Given the description of an element on the screen output the (x, y) to click on. 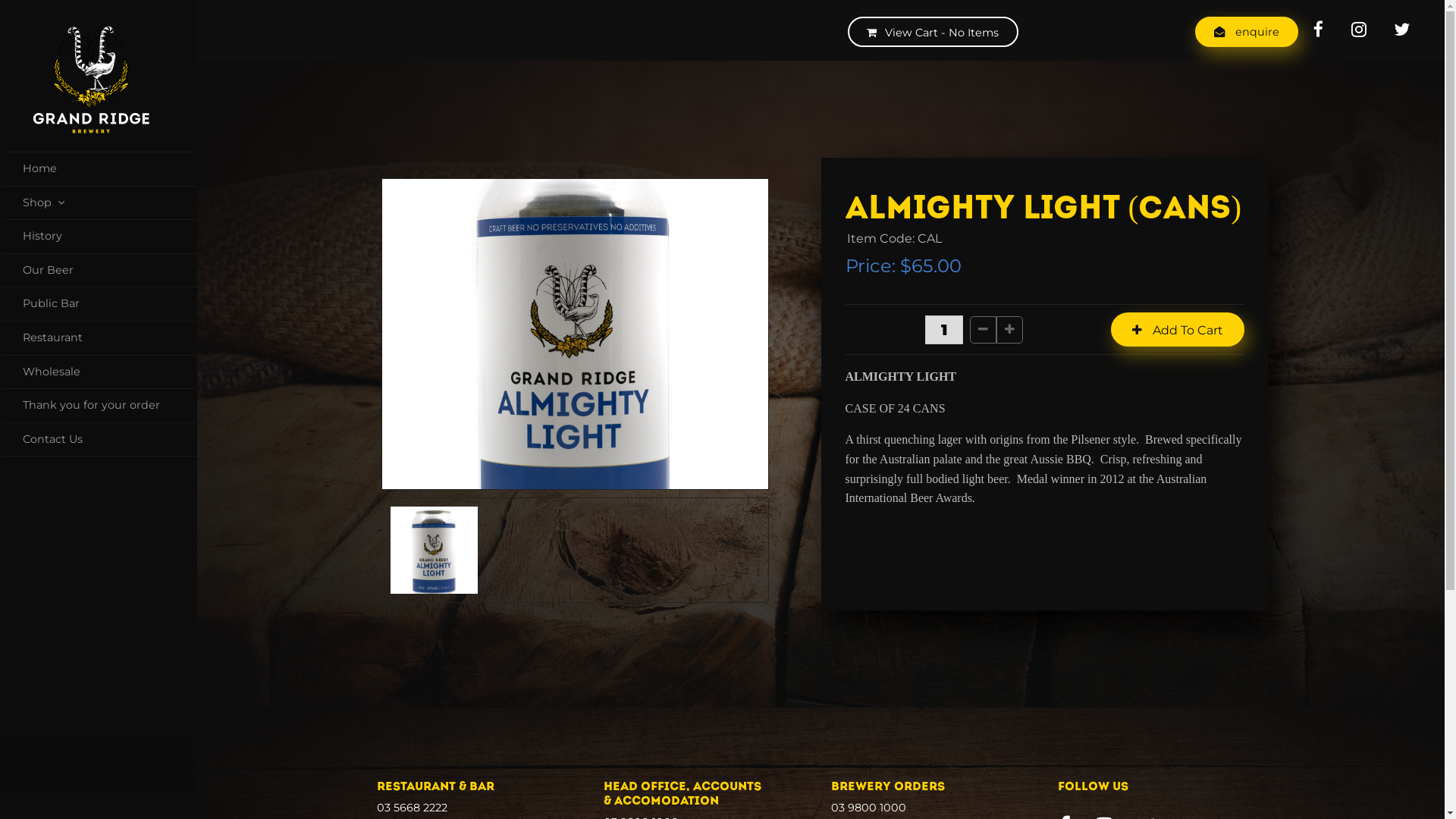
Restaurant Element type: text (98, 338)
Public Bar Element type: text (98, 304)
Our Beer Element type: text (98, 271)
Wholesale Element type: text (98, 372)
View Cart - No Items Element type: text (932, 31)
Home Element type: text (98, 168)
History Element type: text (98, 236)
Shop Element type: text (98, 203)
Contact Us Element type: text (98, 440)
enquire Element type: text (1246, 31)
Thank you for your order Element type: text (98, 406)
